Given the description of an element on the screen output the (x, y) to click on. 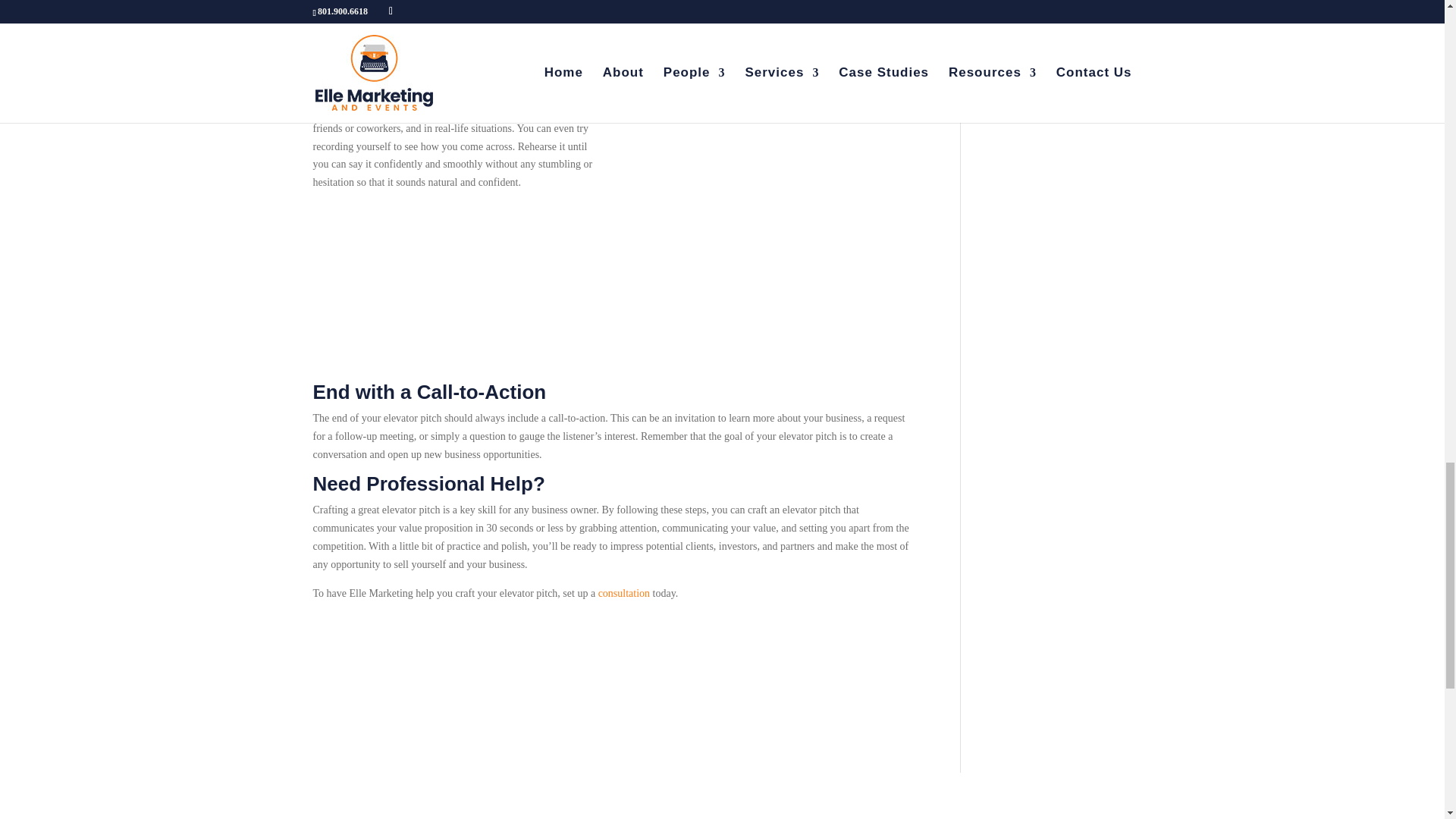
consultation (623, 593)
